Given the description of an element on the screen output the (x, y) to click on. 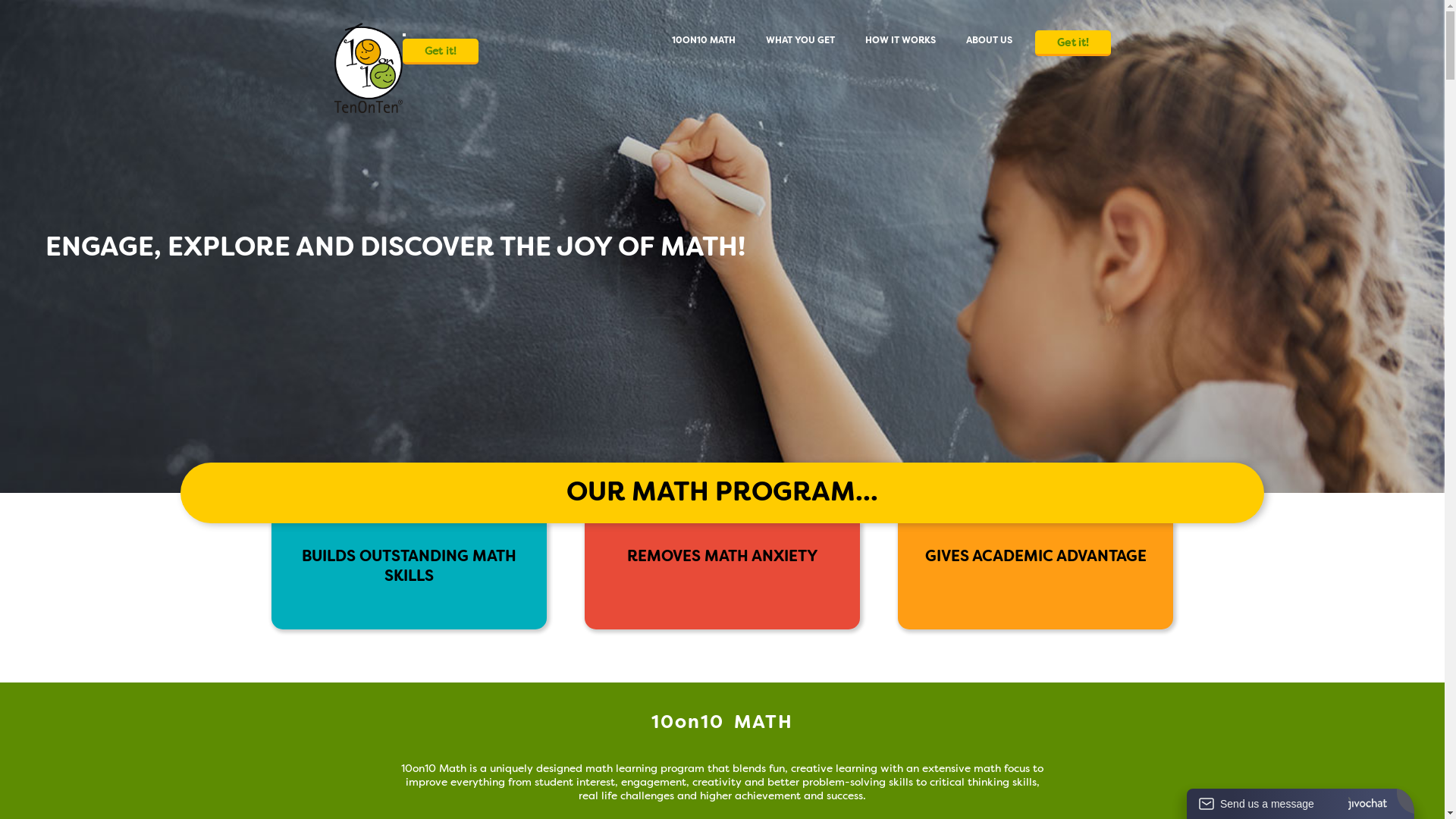
Get it! Element type: text (439, 51)
ABOUT US Element type: text (988, 40)
Get it! Element type: text (1072, 43)
10ON10 MATH Element type: text (703, 40)
WHAT YOU GET Element type: text (800, 40)
HOW IT WORKS Element type: text (899, 40)
